Given the description of an element on the screen output the (x, y) to click on. 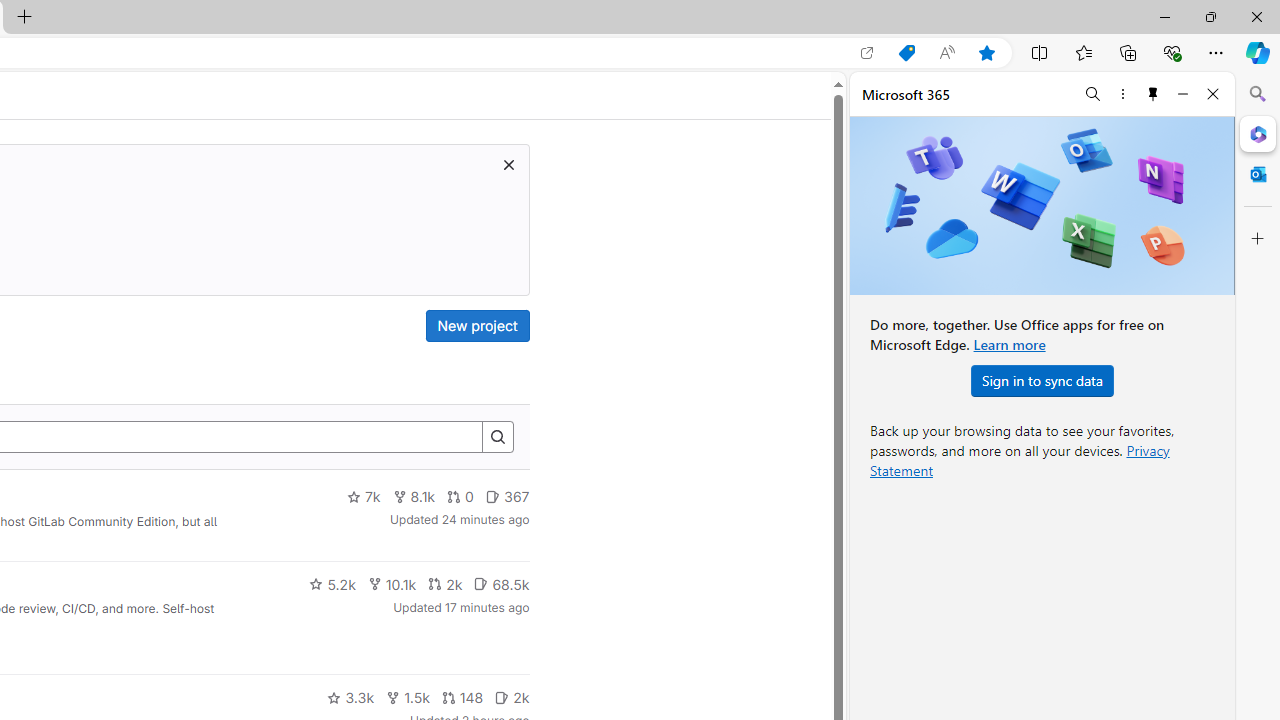
0 (459, 497)
New project (476, 326)
Learn more about Microsoft Office. (1008, 344)
Class: s14 gl-mr-2 (502, 696)
367 (507, 497)
